Given the description of an element on the screen output the (x, y) to click on. 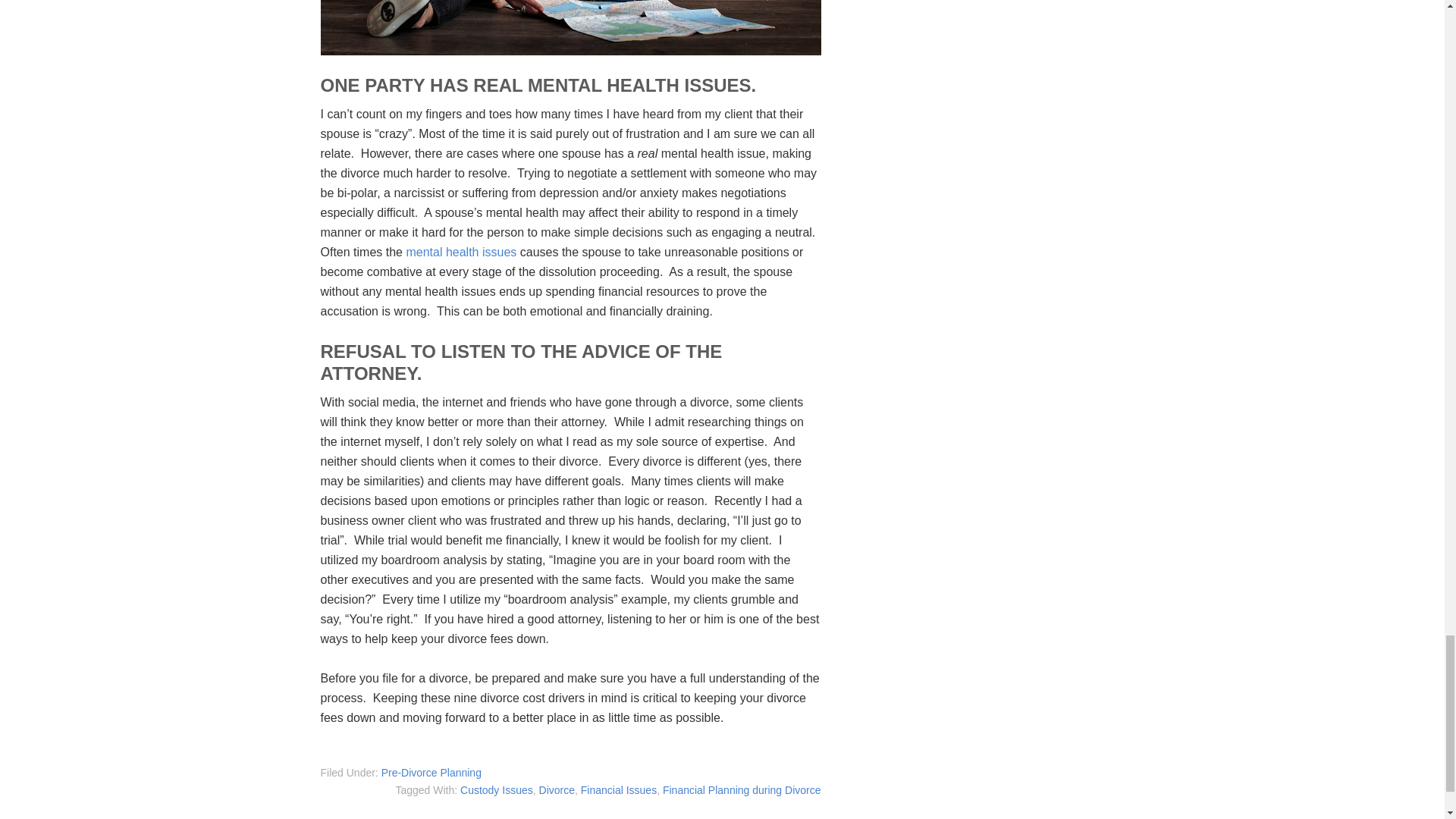
Divorce (556, 789)
Financial Issues (618, 789)
mental health issues (461, 251)
Financial Planning during Divorce (741, 789)
Pre-Divorce Planning (431, 772)
Custody Issues (496, 789)
